Given the description of an element on the screen output the (x, y) to click on. 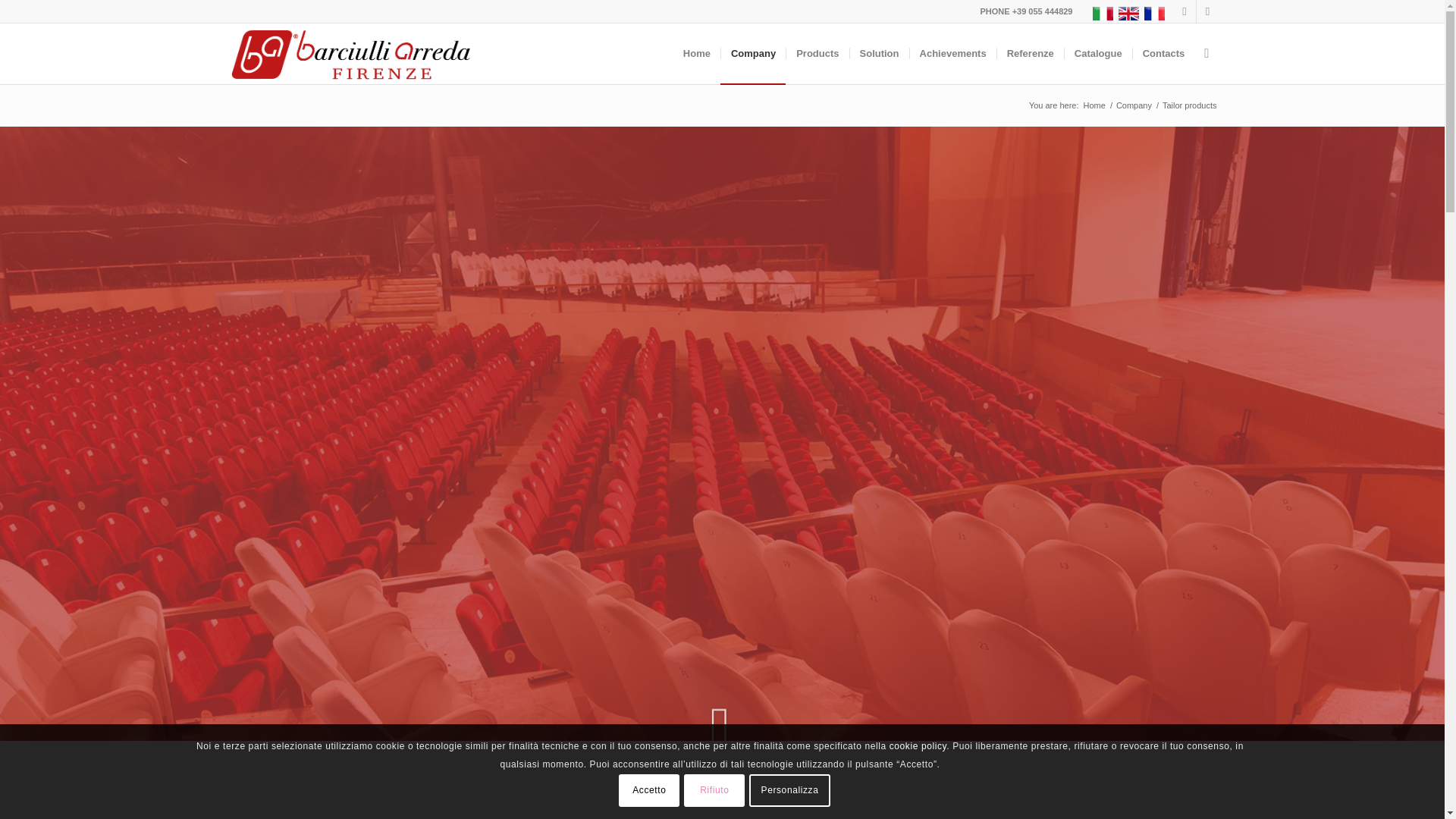
Achievements (951, 53)
Pinterest (1208, 11)
Company (753, 53)
Barciulli Arreda (1094, 105)
Company (1133, 105)
Home (1094, 105)
Catalogue (1098, 53)
Contacts (1163, 53)
English (1129, 13)
Solution (878, 53)
Italiano (1102, 13)
Products (817, 53)
Company (1133, 105)
Referenze (1029, 53)
Facebook (1184, 11)
